Given the description of an element on the screen output the (x, y) to click on. 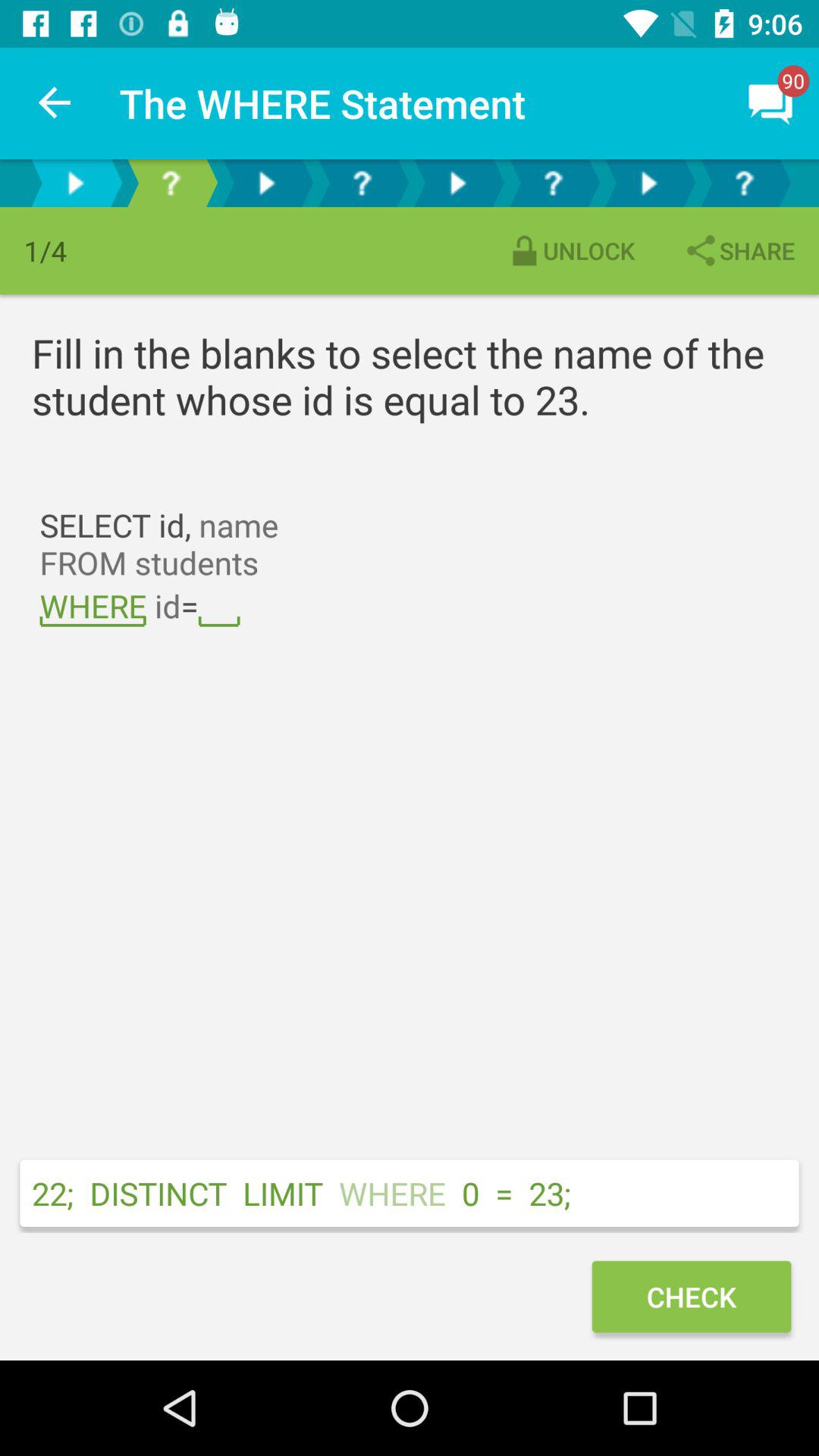
another question option (265, 183)
